Given the description of an element on the screen output the (x, y) to click on. 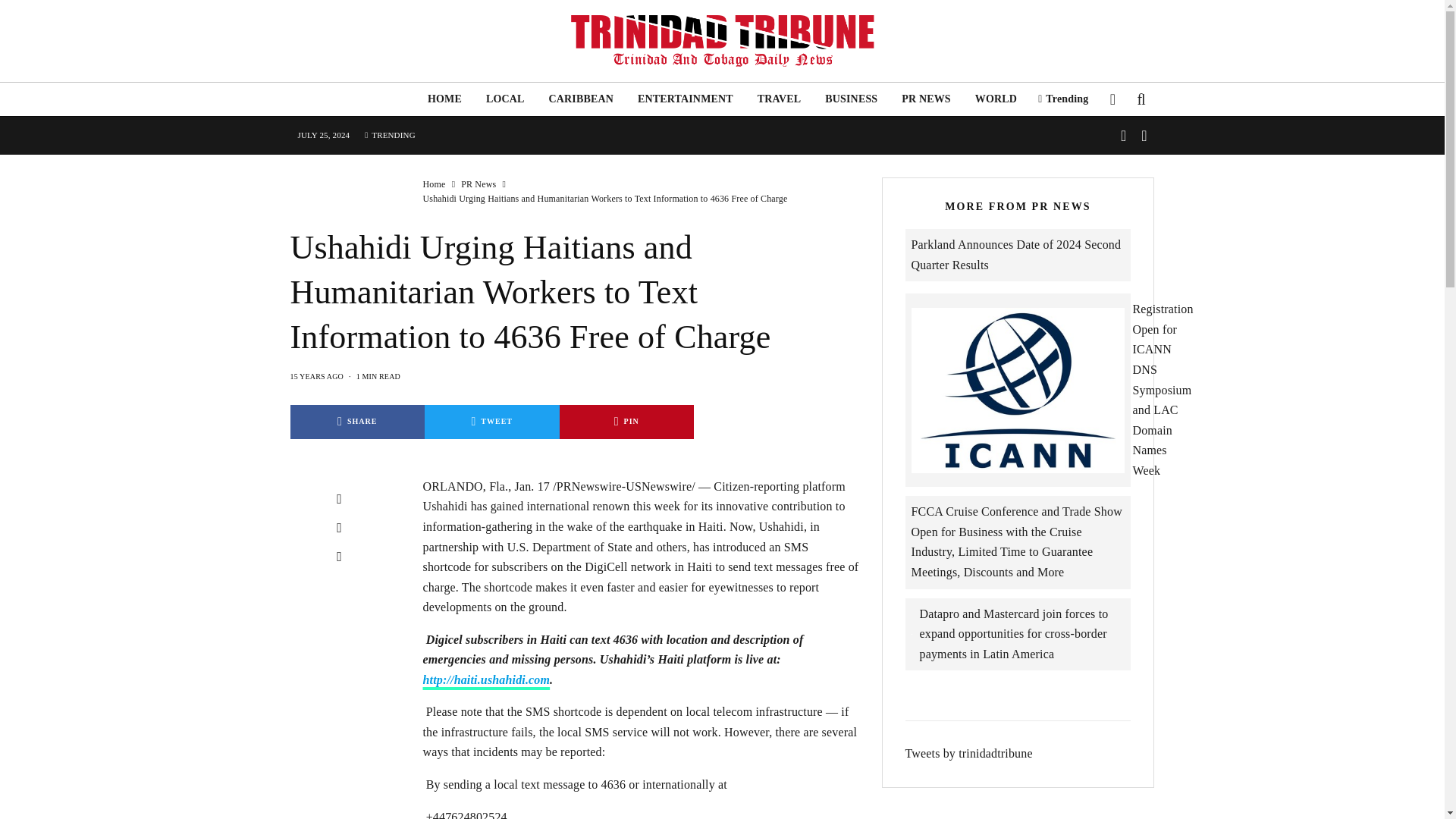
LOCAL (505, 98)
ENTERTAINMENT (685, 98)
CARIBBEAN (581, 98)
HOME (444, 98)
TRAVEL (779, 98)
